Given the description of an element on the screen output the (x, y) to click on. 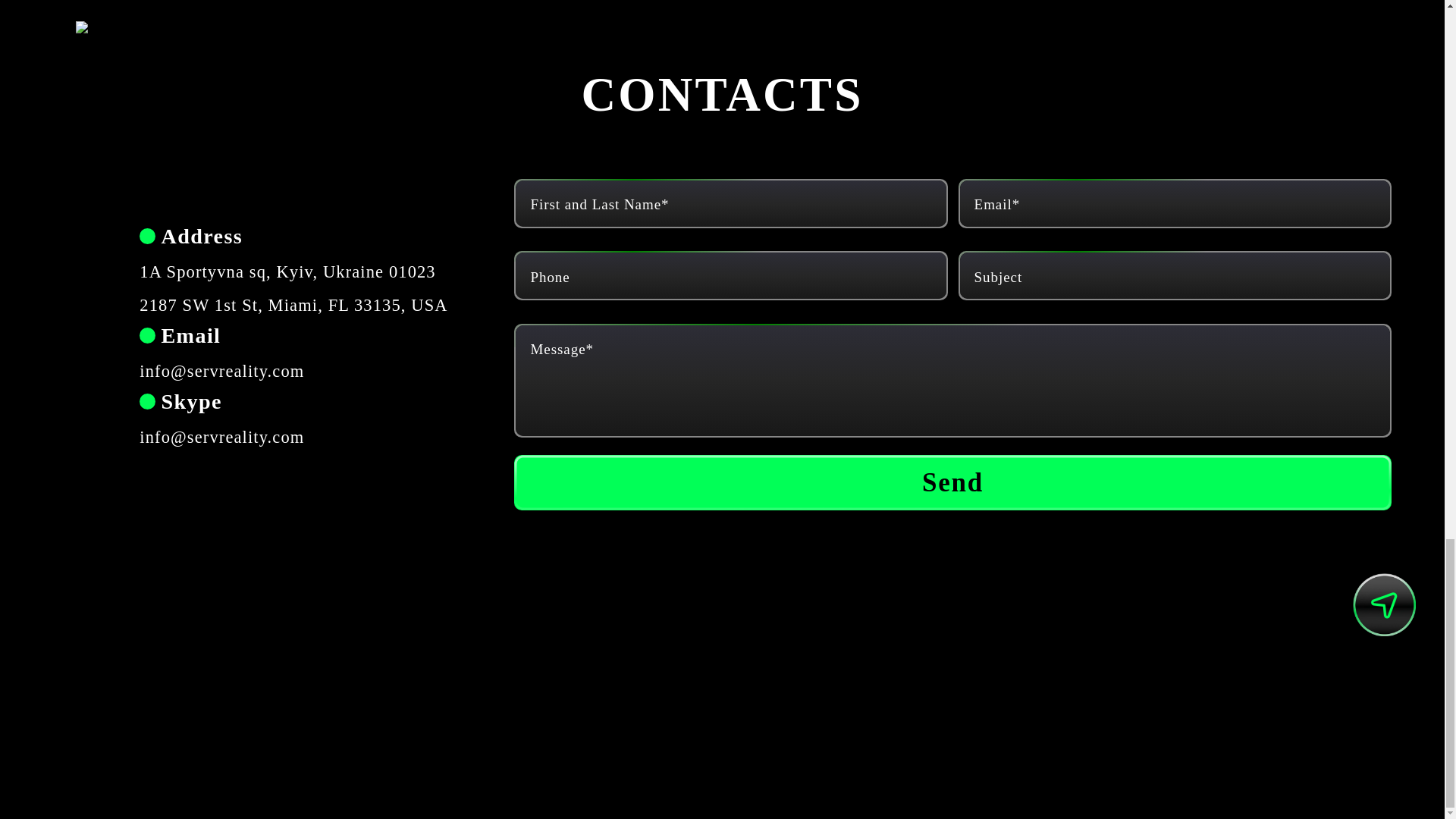
Send (951, 482)
